Given the description of an element on the screen output the (x, y) to click on. 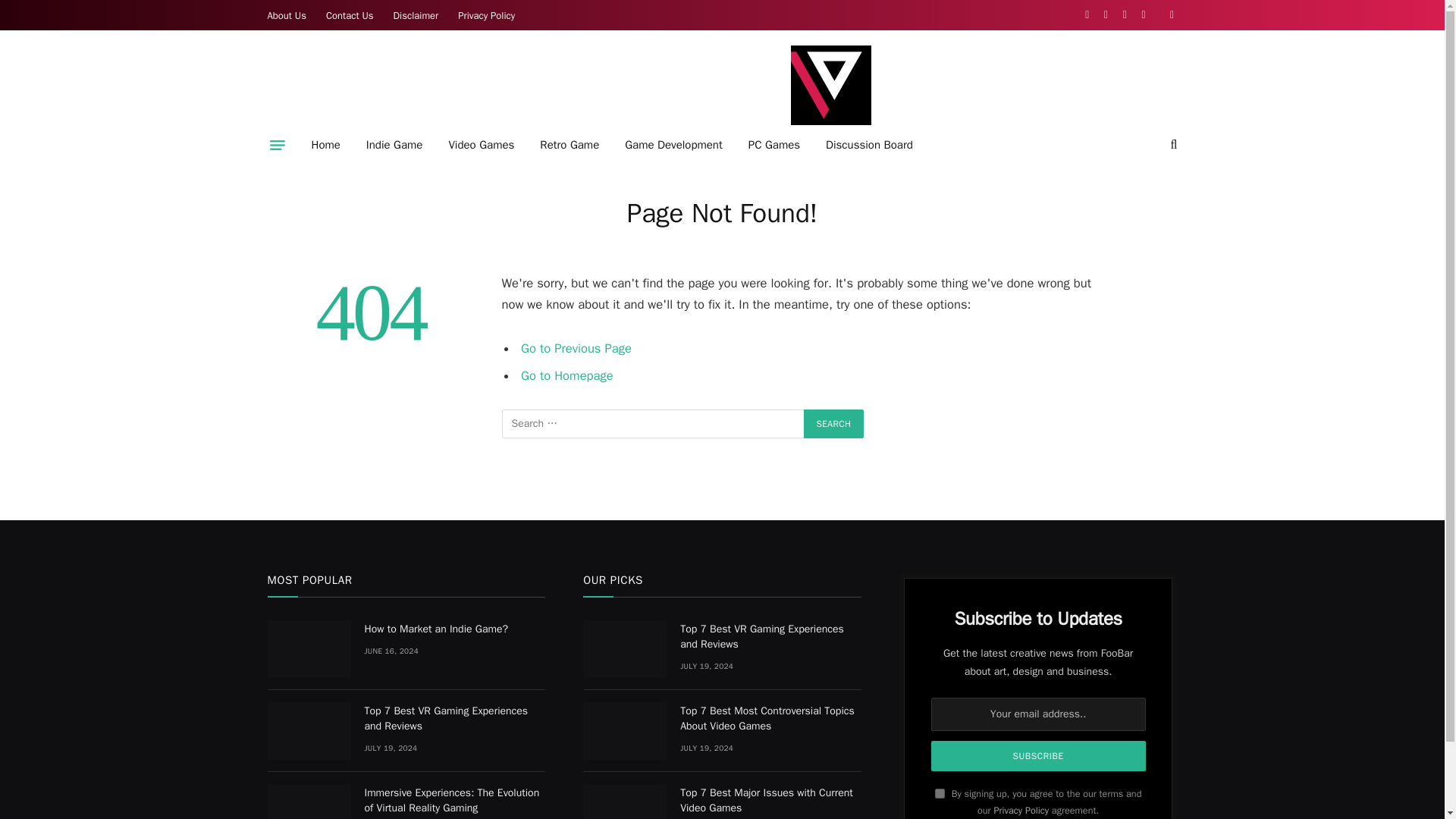
Indie Game (394, 144)
About Us (286, 15)
Home (325, 144)
Search (833, 423)
Retro Game (569, 144)
Go to Homepage (566, 374)
Switch to Dark Design - easier on eyes. (1169, 14)
on (939, 793)
Privacy Policy (486, 15)
Subscribe (1038, 756)
How to Market an Indie Game? (308, 648)
Contact Us (349, 15)
PC Games (773, 144)
How to Market an Indie Game? (454, 629)
Game Development (673, 144)
